Given the description of an element on the screen output the (x, y) to click on. 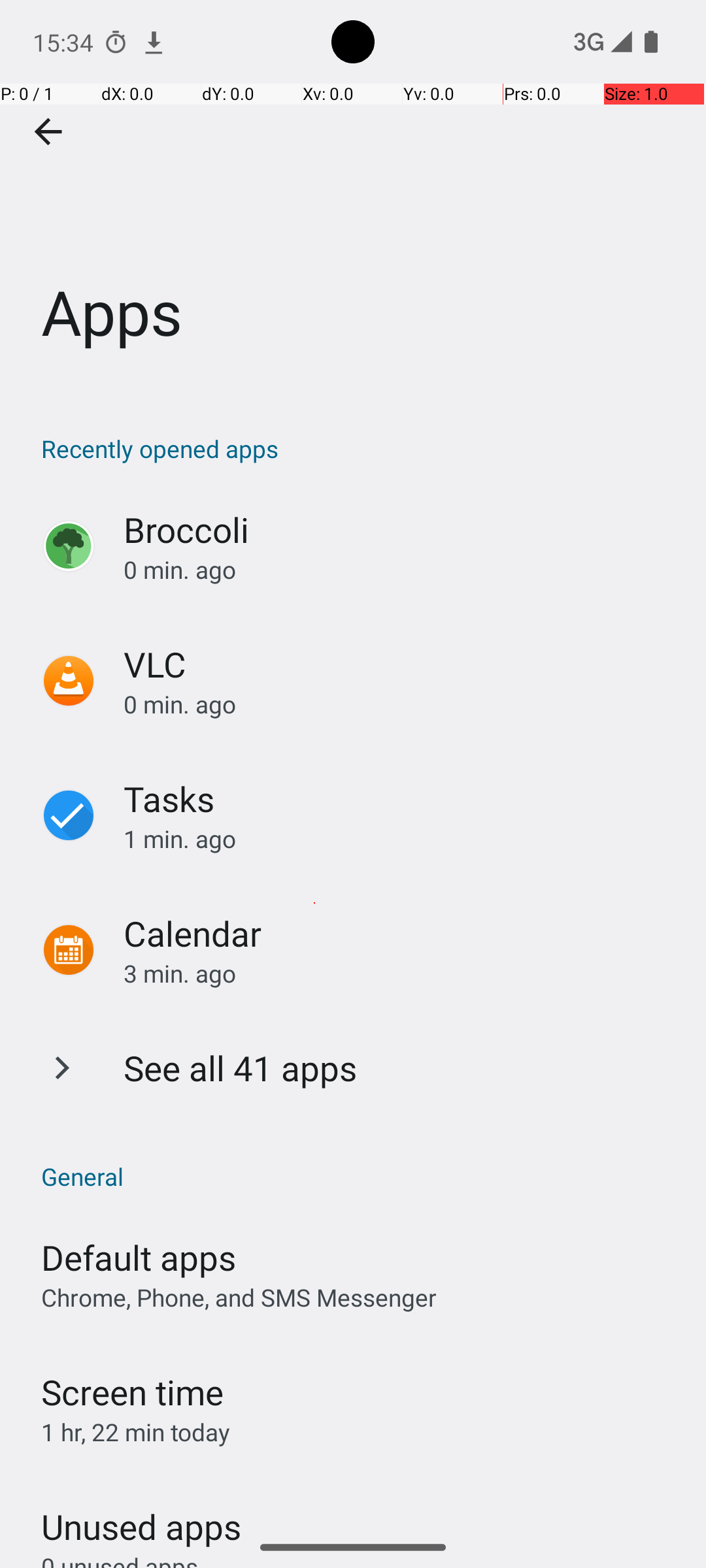
1 hr, 22 min today Element type: android.widget.TextView (135, 1431)
